Given the description of an element on the screen output the (x, y) to click on. 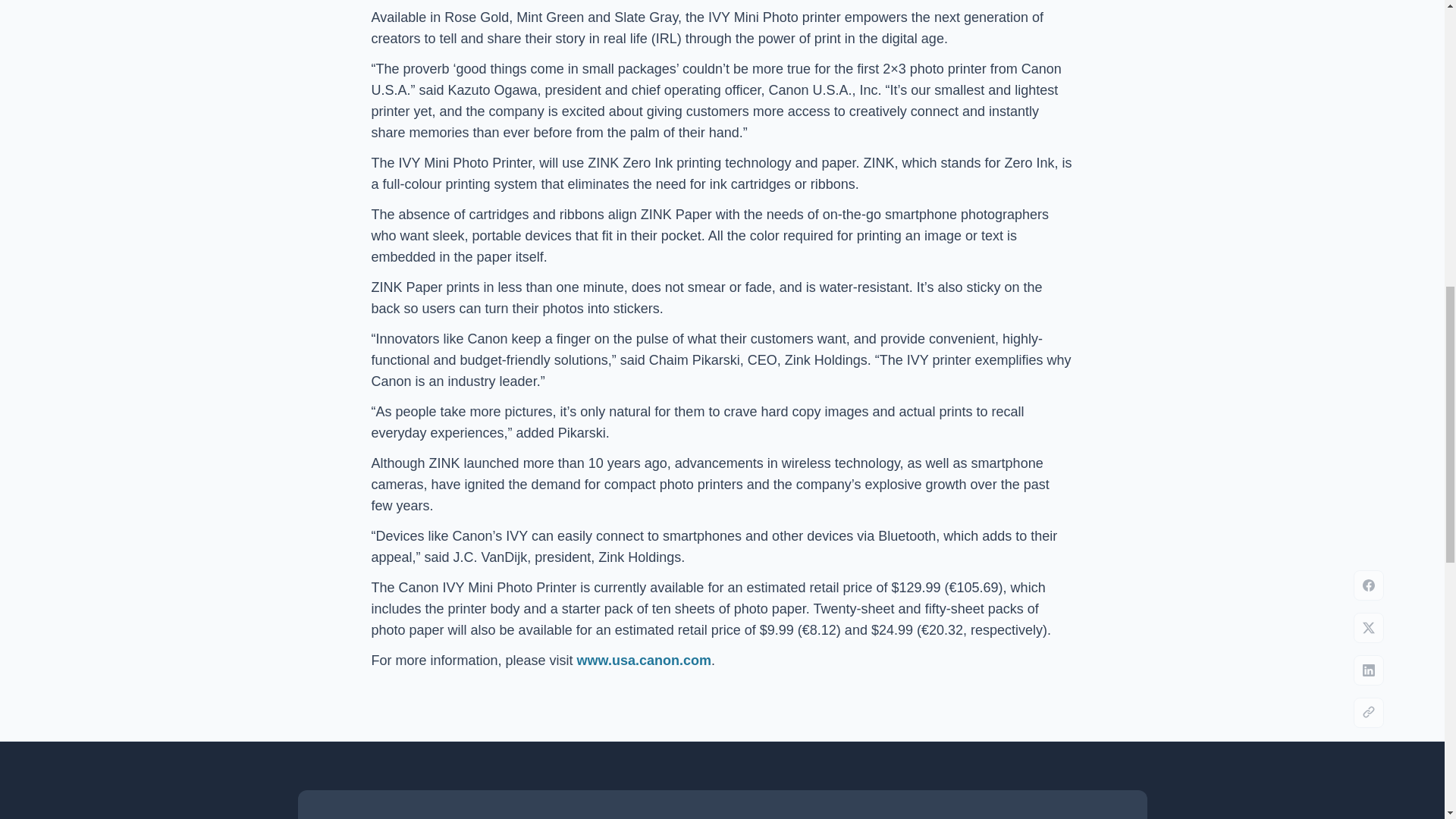
www.usa.canon.com (643, 660)
